Given the description of an element on the screen output the (x, y) to click on. 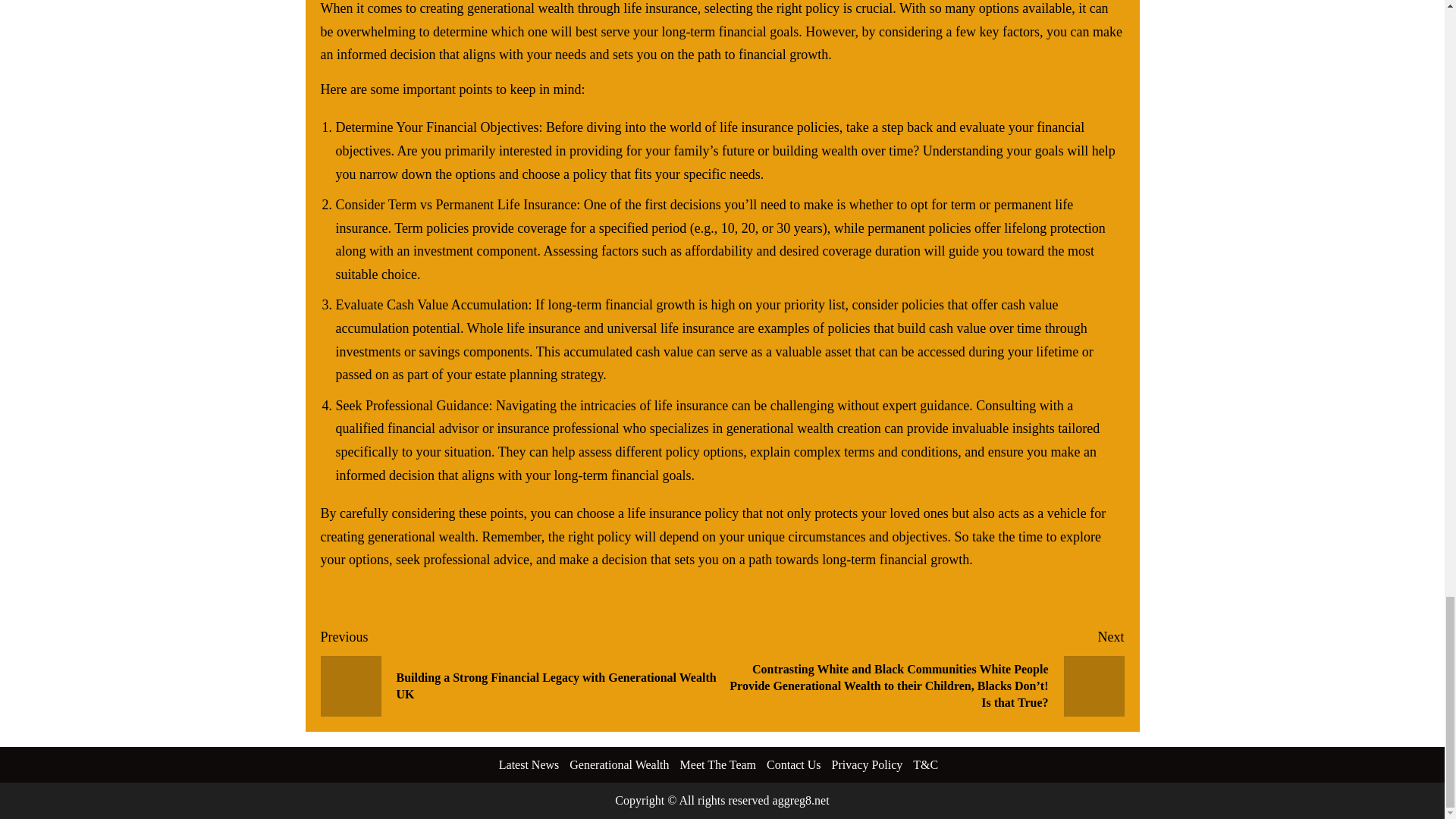
Generational Wealth (618, 764)
Contact Us (794, 764)
Latest News (529, 764)
Privacy Policy (866, 764)
Meet The Team (717, 764)
